Given the description of an element on the screen output the (x, y) to click on. 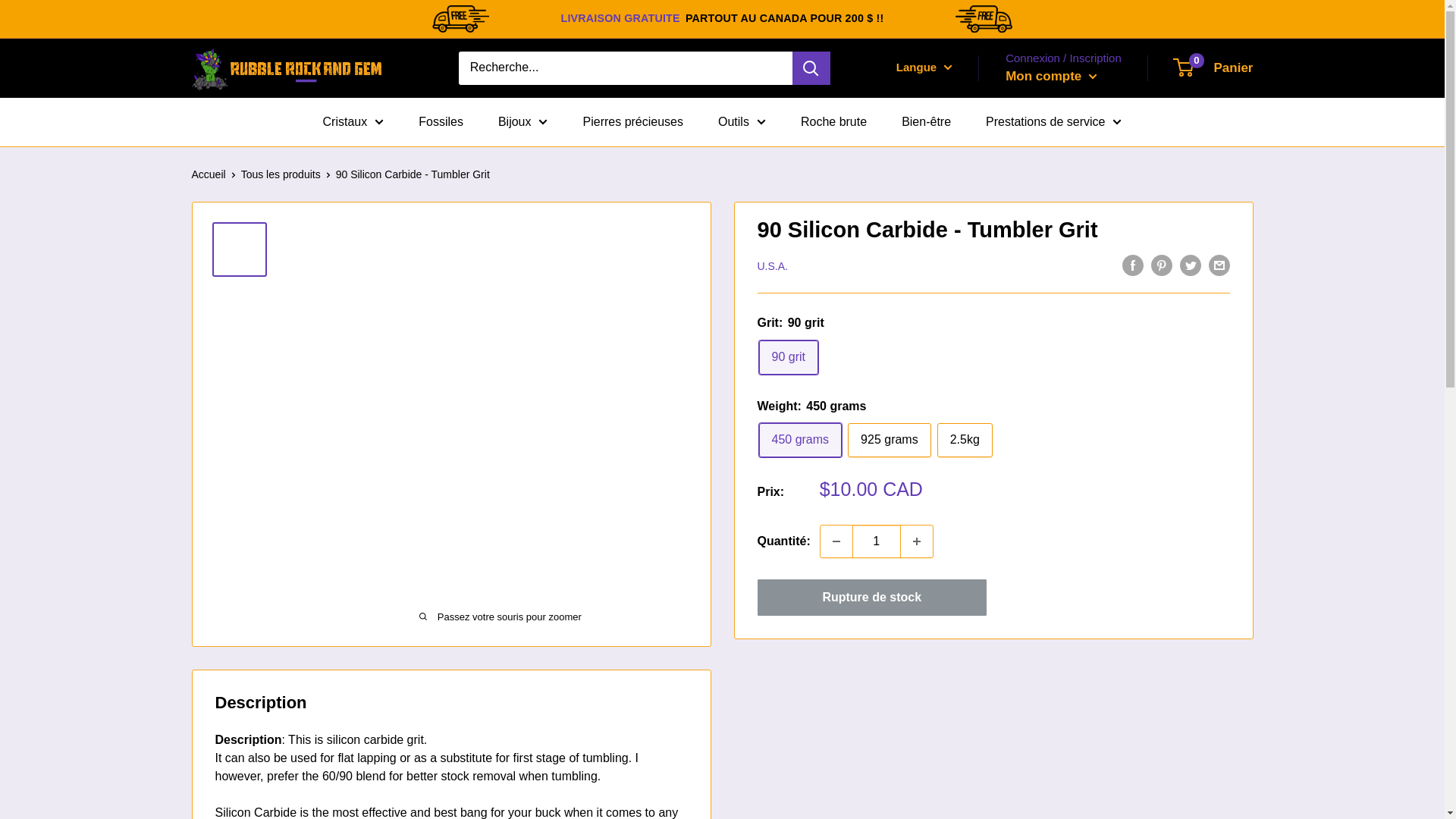
1 (876, 541)
2.5kg (964, 440)
450 grams (799, 440)
90 grit (787, 357)
925 grams (889, 440)
